Given the description of an element on the screen output the (x, y) to click on. 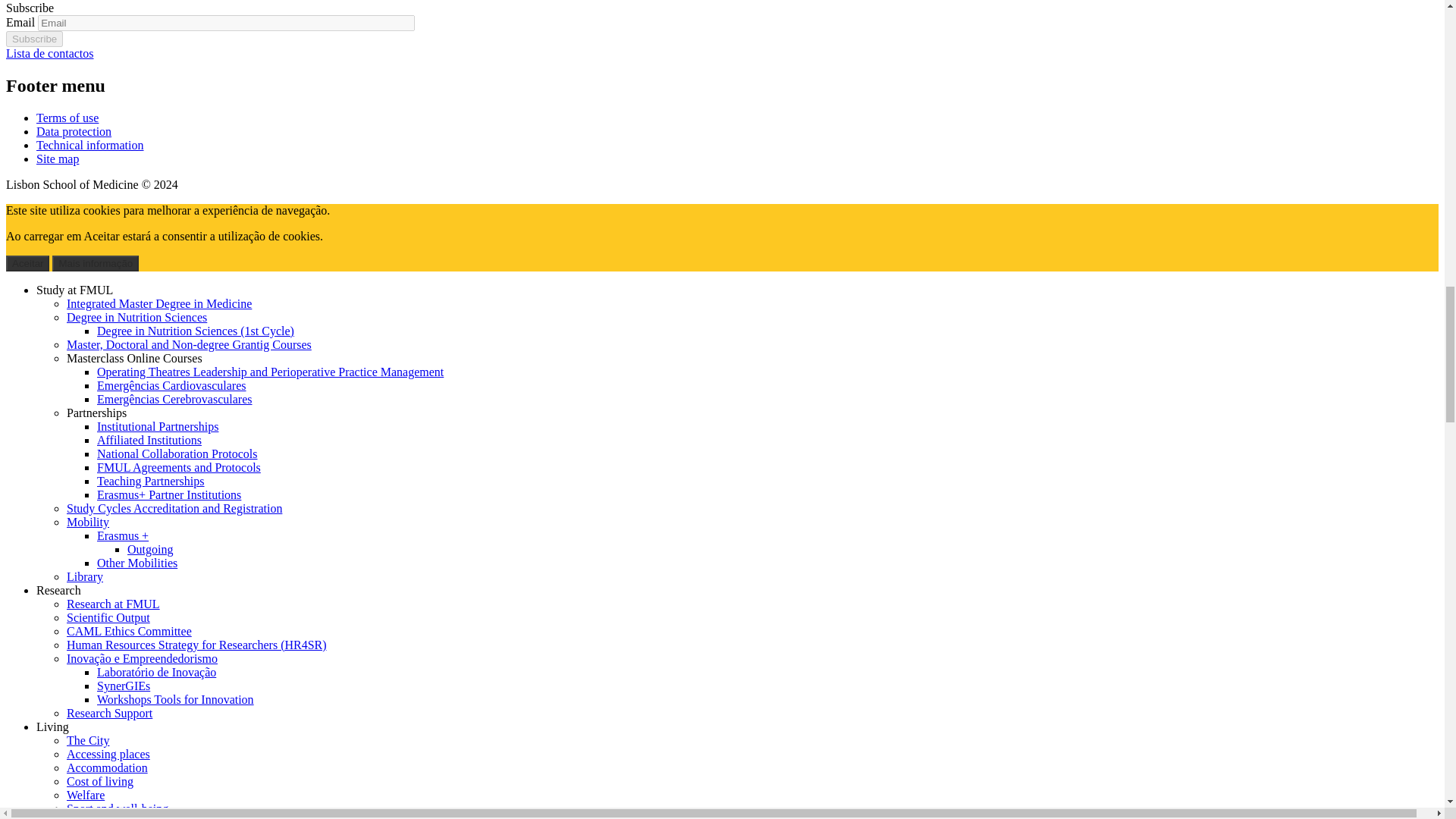
Site map (57, 158)
Aceitar (27, 263)
Data protection (74, 131)
Master, Doctoral and Non-degree Grantig Courses (188, 344)
The subscriber's email address. (225, 23)
Degree in Nutrition Sciences (136, 317)
Integrated Master Degree in Medicine (158, 303)
Terms of use (67, 117)
Lista de contactos (49, 52)
Technical information (90, 144)
Subscribe (33, 38)
